Given the description of an element on the screen output the (x, y) to click on. 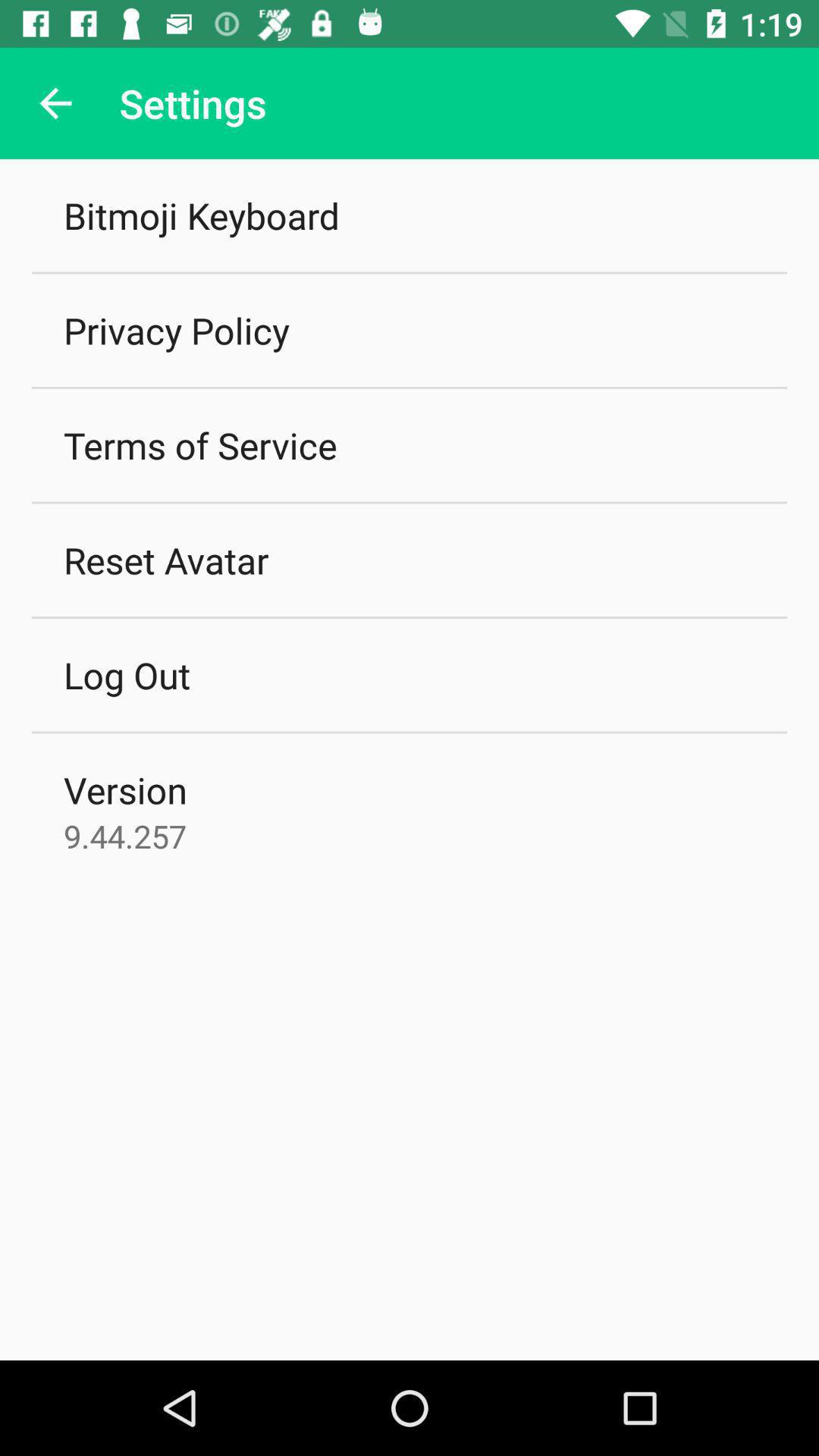
select icon below terms of service icon (166, 559)
